Given the description of an element on the screen output the (x, y) to click on. 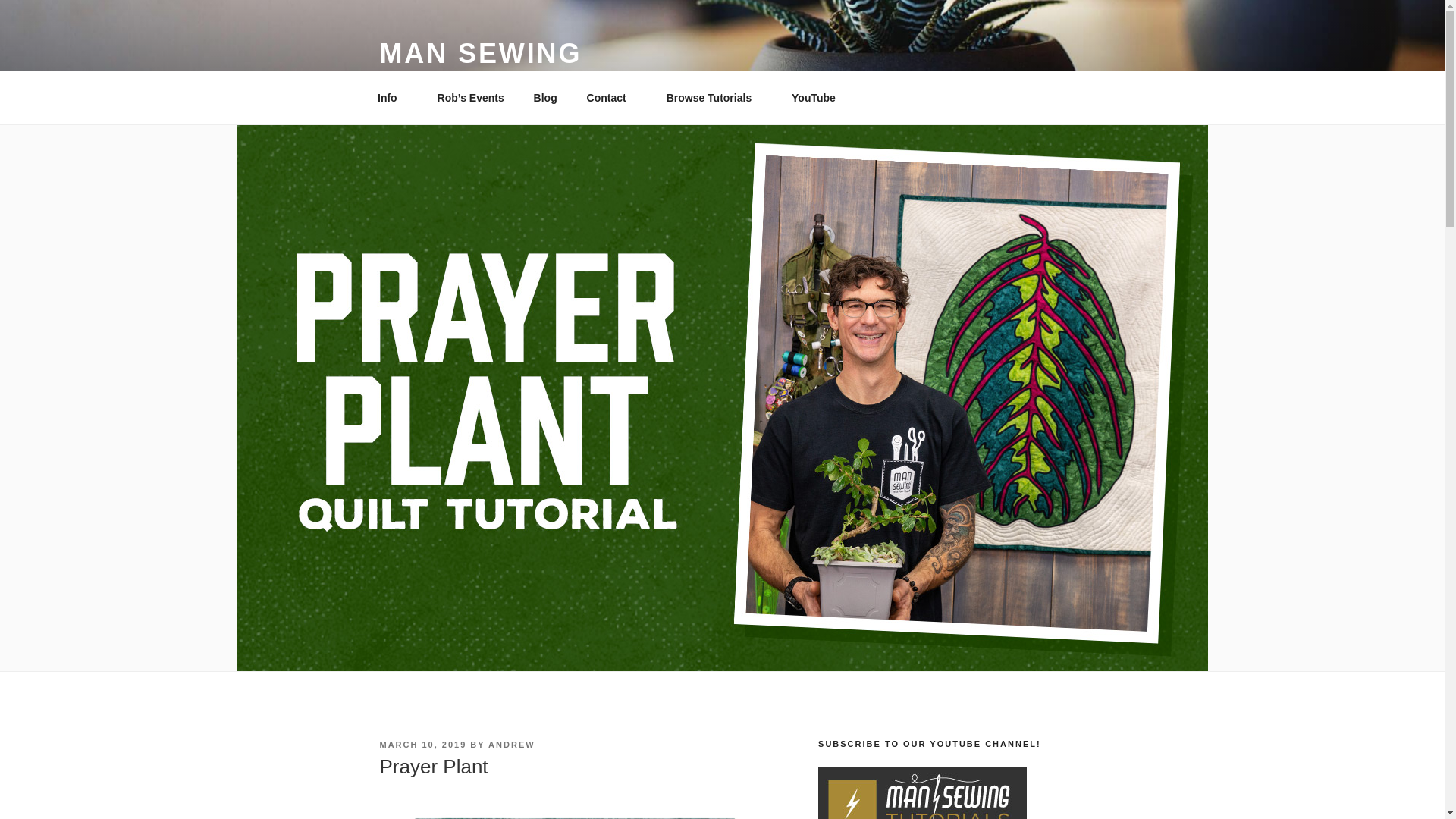
ANDREW (511, 744)
MAN SEWING (479, 52)
Info (392, 97)
MARCH 10, 2019 (421, 744)
YouTube (813, 97)
Browse Tutorials (714, 97)
Contact (611, 97)
Blog (544, 97)
